Given the description of an element on the screen output the (x, y) to click on. 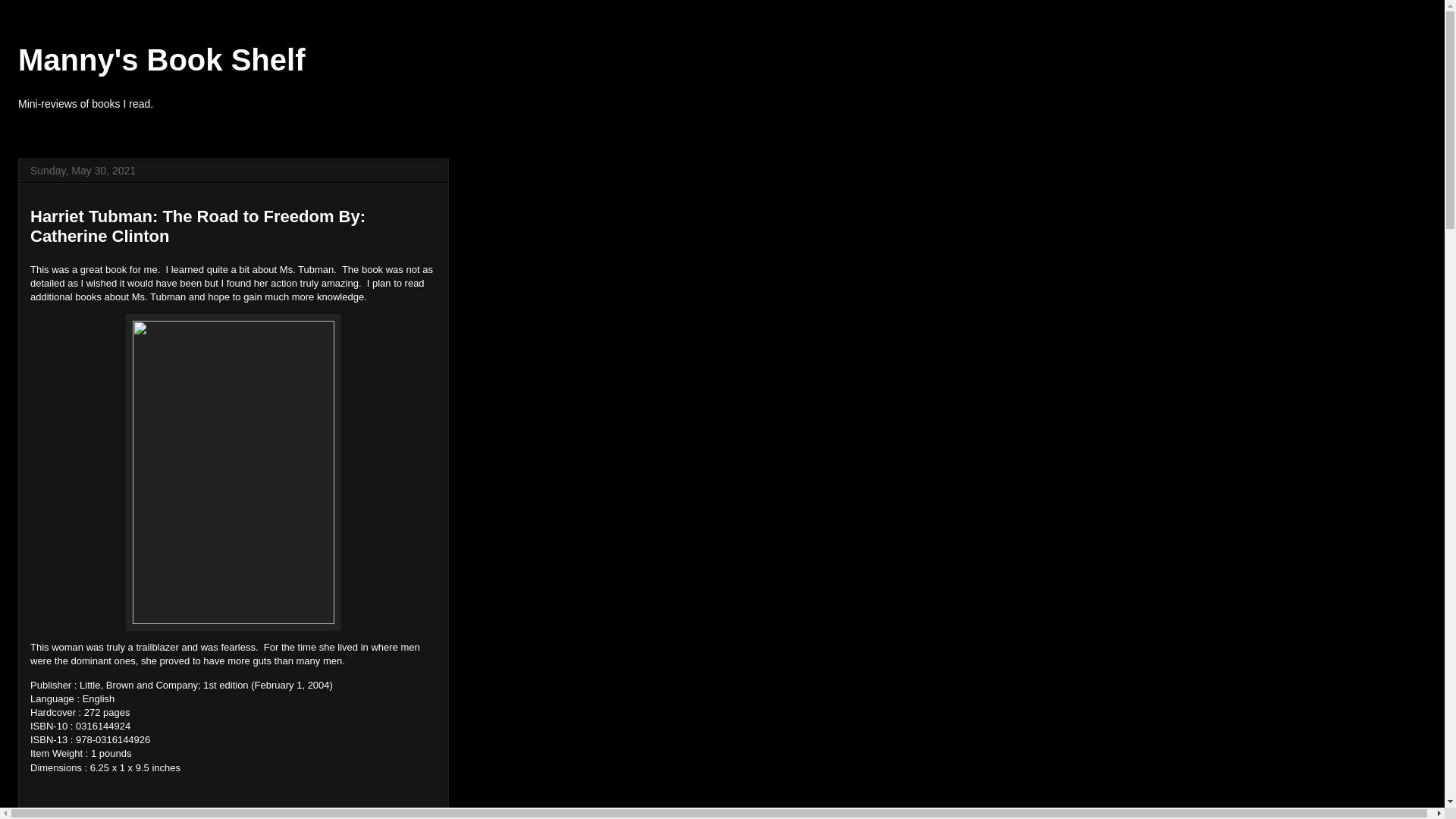
Manny's Book Shelf (160, 59)
